Given the description of an element on the screen output the (x, y) to click on. 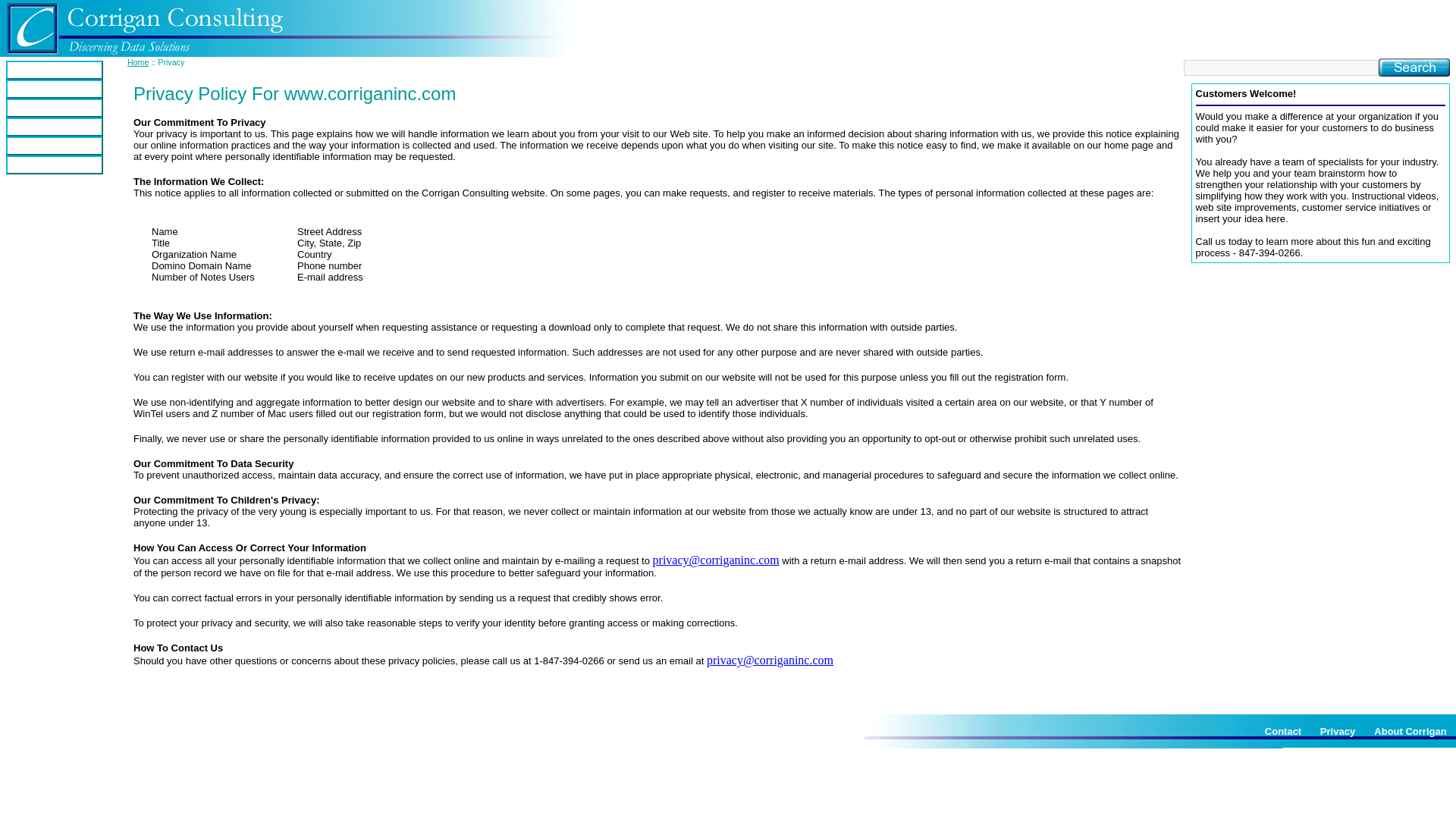
About Corrigan (1409, 731)
Contact (1283, 731)
Privacy (1337, 731)
Home (138, 61)
Knowledge Base (54, 145)
Home (54, 69)
Solutions (54, 88)
Services (54, 107)
